Given the description of an element on the screen output the (x, y) to click on. 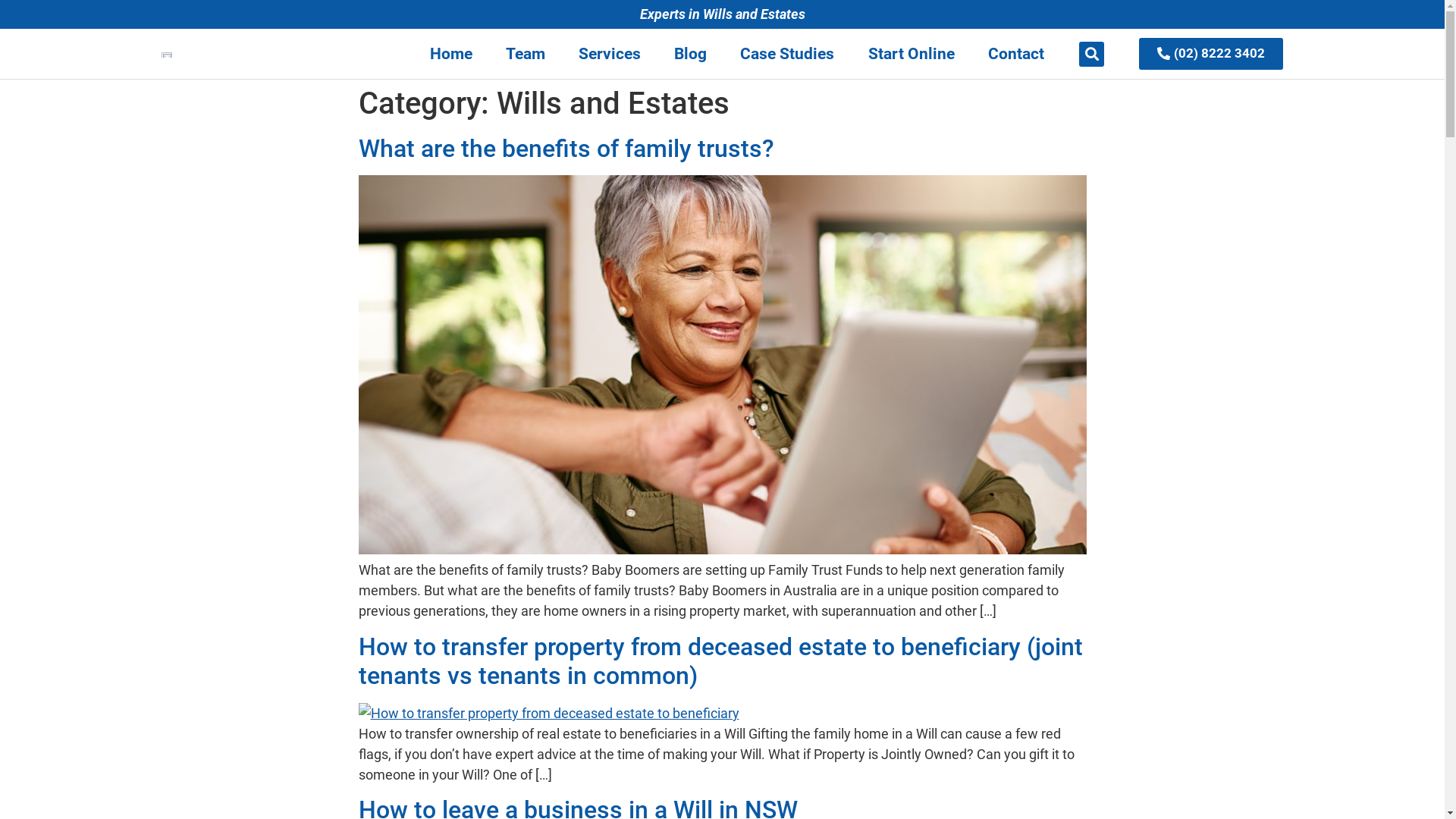
What are the benefits of family trusts? Element type: text (565, 148)
Case Studies Element type: text (786, 53)
Start Online Element type: text (911, 53)
(02) 8222 3402 Element type: text (1211, 53)
Blog Element type: text (690, 53)
Services Element type: text (609, 53)
Home Element type: text (451, 53)
Contact Element type: text (1015, 53)
Team Element type: text (525, 53)
